Given the description of an element on the screen output the (x, y) to click on. 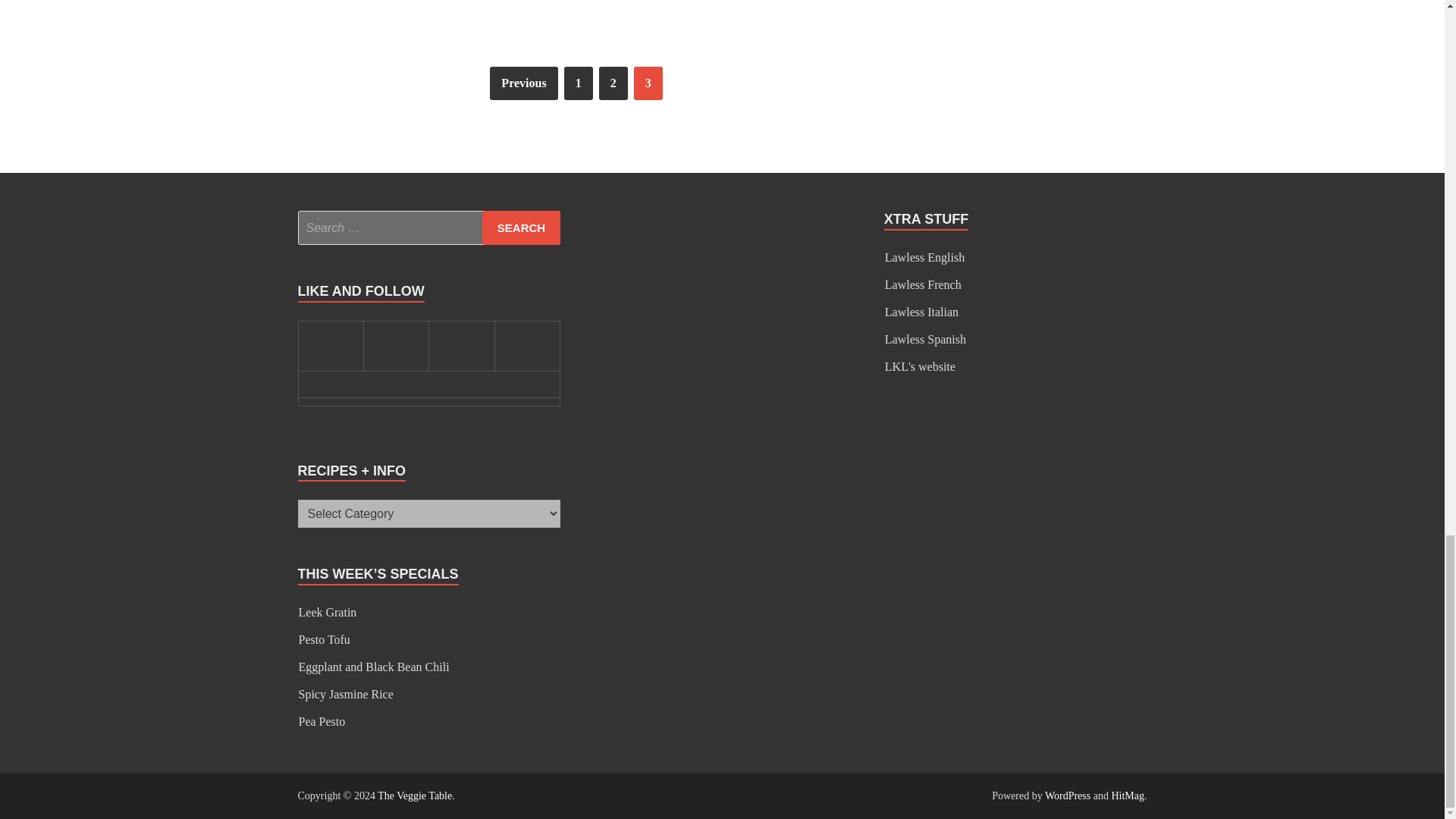
Search (520, 227)
The Veggie Table (414, 795)
HitMag WordPress Theme (1127, 795)
WordPress (1067, 795)
Learn English online (924, 256)
Learn French online (922, 284)
Search (520, 227)
